Given the description of an element on the screen output the (x, y) to click on. 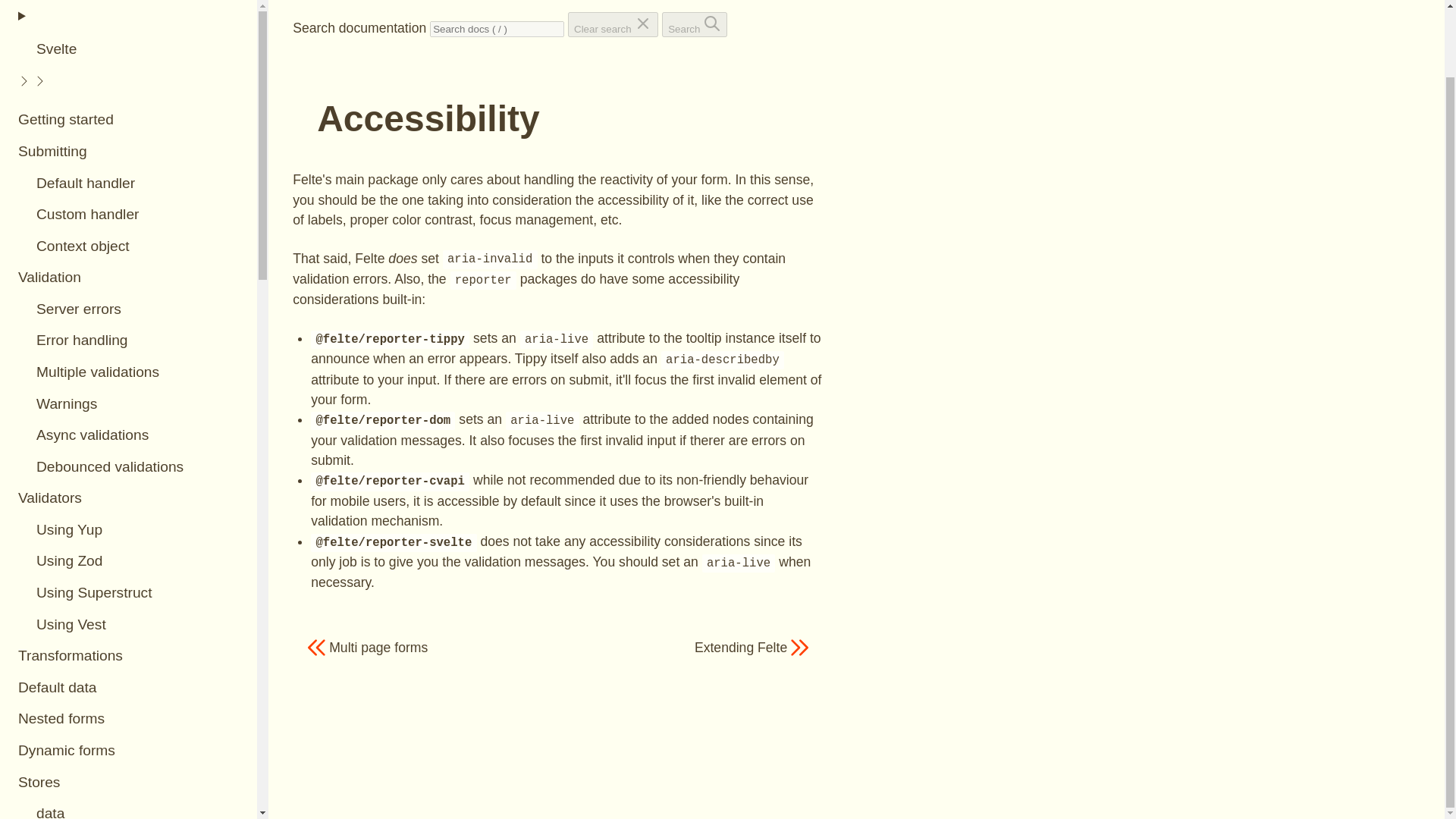
Server errors (128, 309)
Using Superstruct (128, 593)
Dynamic forms (128, 751)
Error handling (128, 341)
Custom handler (128, 214)
Debounced validations (128, 467)
Submitting (128, 152)
Validation (128, 278)
Multiple validations (128, 373)
Nested forms (128, 719)
Default data (128, 687)
Validators (128, 499)
Using Yup (128, 530)
Transformations (128, 656)
